Given the description of an element on the screen output the (x, y) to click on. 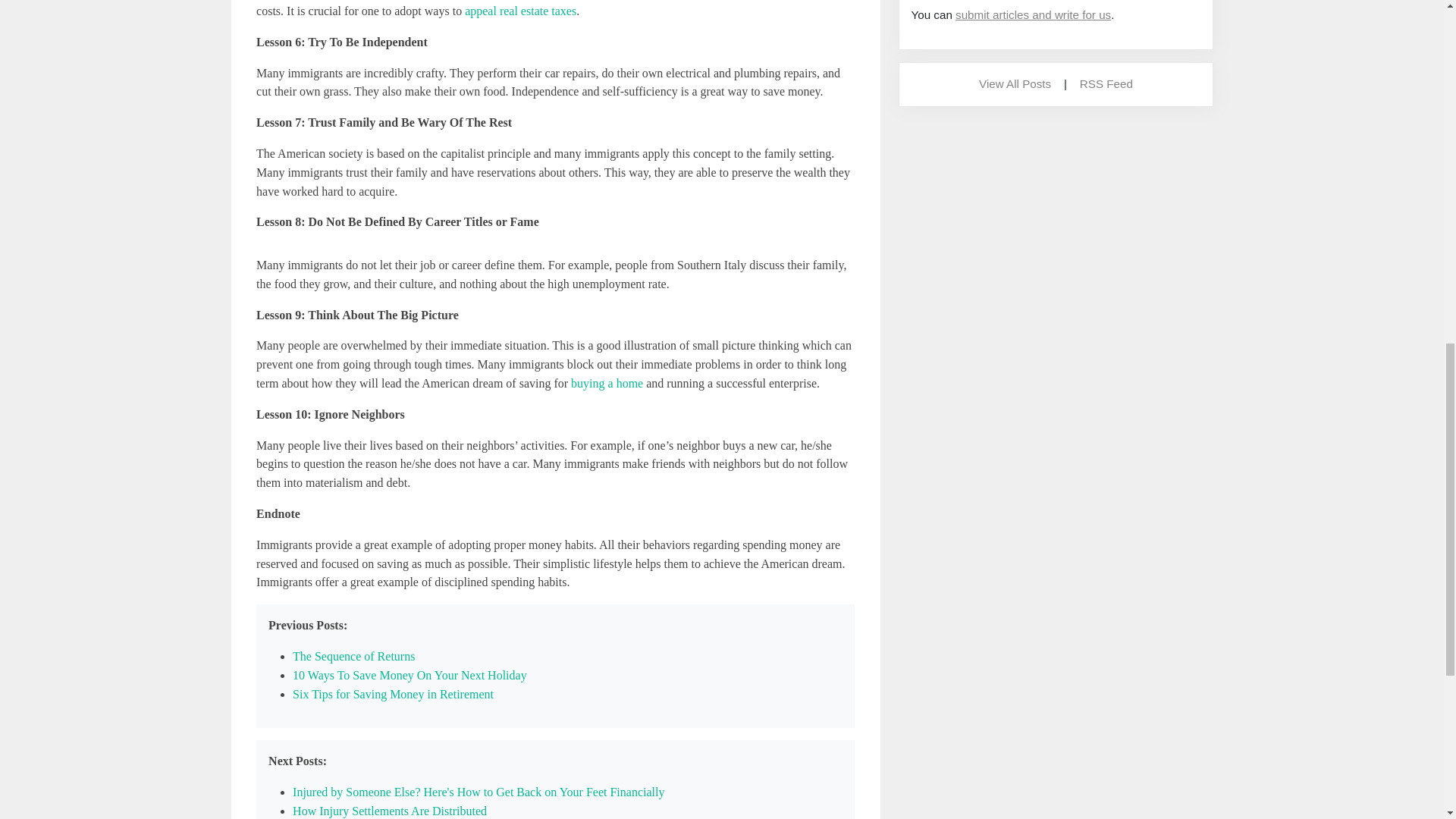
10 Ways To Save Money On Your Next Holiday (409, 675)
buying a home (606, 382)
appeal real estate taxes (520, 10)
The Sequence of Returns (353, 656)
View All Posts (1014, 83)
submit articles and write for us (1032, 14)
RSS Feed (1106, 83)
How Injury Settlements Are Distributed (389, 810)
Six Tips for Saving Money in Retirement (392, 694)
